Given the description of an element on the screen output the (x, y) to click on. 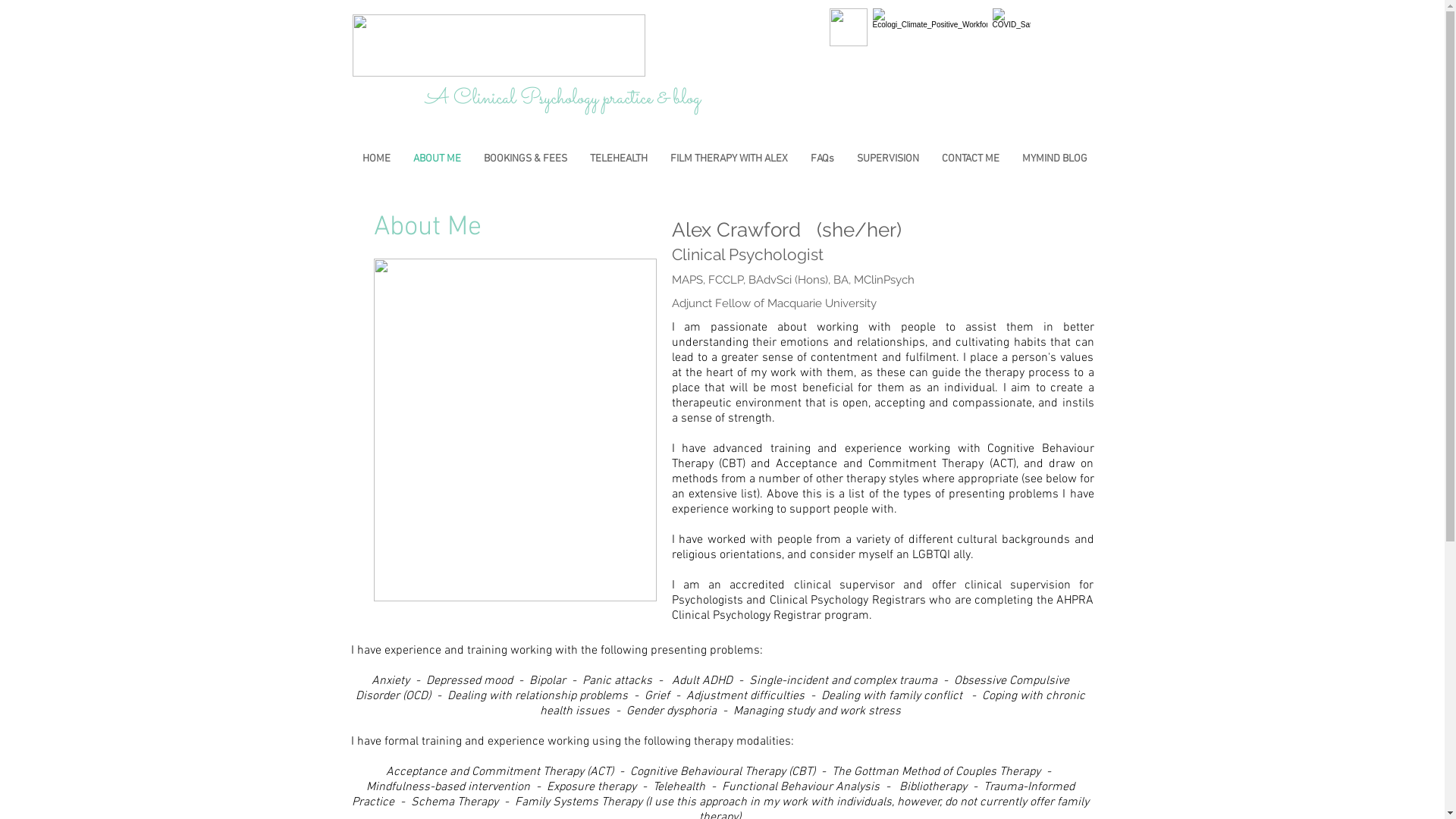
FILM THERAPY WITH ALEX Element type: text (728, 158)
st,small,507x507-pad,600x600,f8f8f8.jpeg Element type: hover (848, 27)
BOOKINGS & FEES Element type: text (524, 158)
FAQs Element type: text (822, 158)
TELEHEALTH Element type: text (617, 158)
MYMIND BLOG Element type: text (1054, 158)
SUPERVISION Element type: text (886, 158)
ABOUT ME Element type: text (436, 158)
CONTACT ME Element type: text (969, 158)
HOME Element type: text (375, 158)
